Given the description of an element on the screen output the (x, y) to click on. 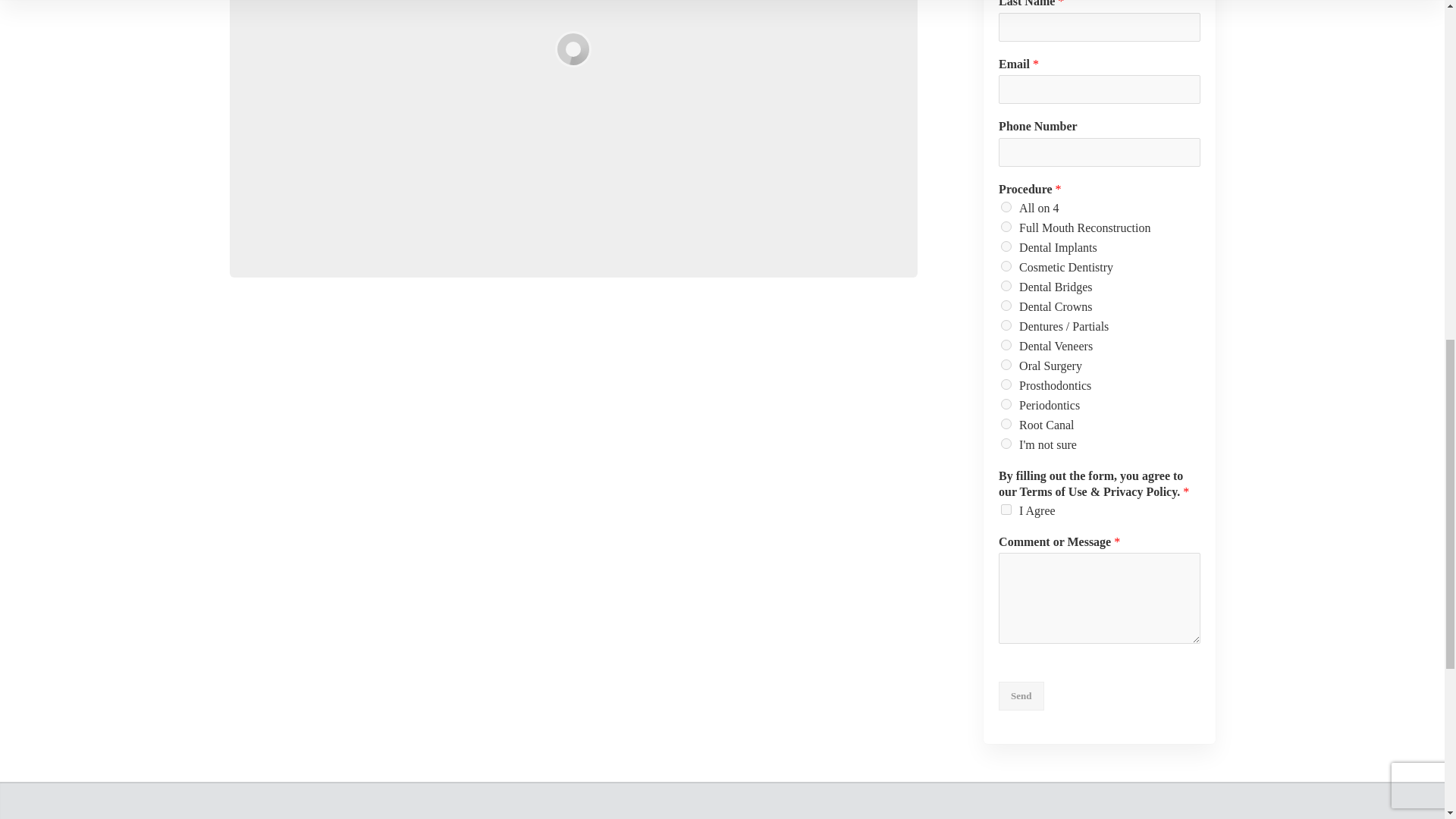
Periodontics (1006, 403)
Dental Veneers (1006, 344)
All on 4 (1006, 206)
Prosthodontics (1006, 384)
Dental Bridges (1006, 285)
Cosmetic Dentistry (1006, 266)
Full Mouth Reconstruction (1006, 226)
Oral Surgery (1006, 364)
Dental Crowns (1006, 305)
Dental Implants (1006, 245)
